Given the description of an element on the screen output the (x, y) to click on. 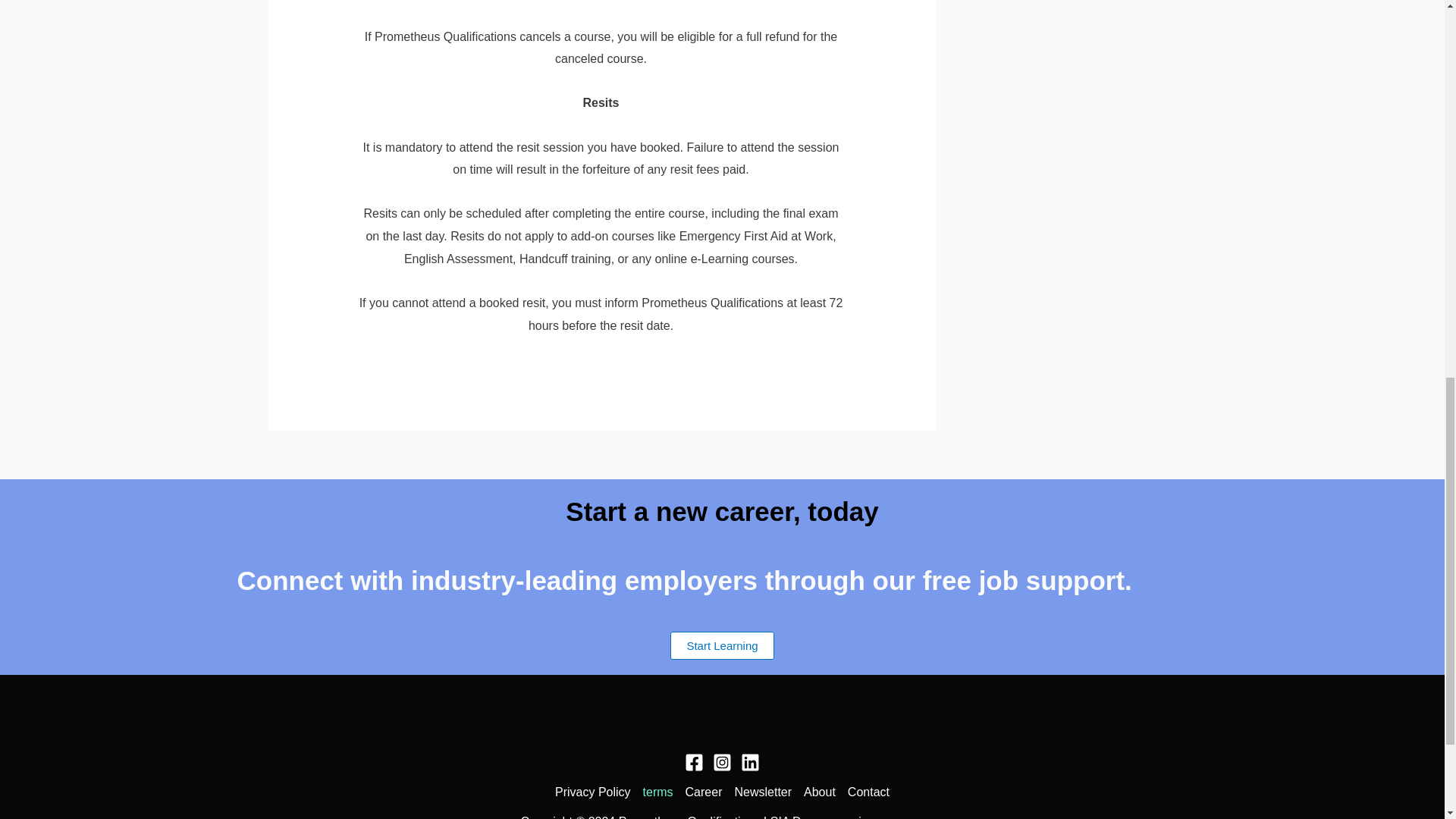
terms (658, 792)
About (819, 792)
Start Learning (721, 645)
Career (704, 792)
Contact (865, 792)
Newsletter (762, 792)
Privacy Policy (595, 792)
